Given the description of an element on the screen output the (x, y) to click on. 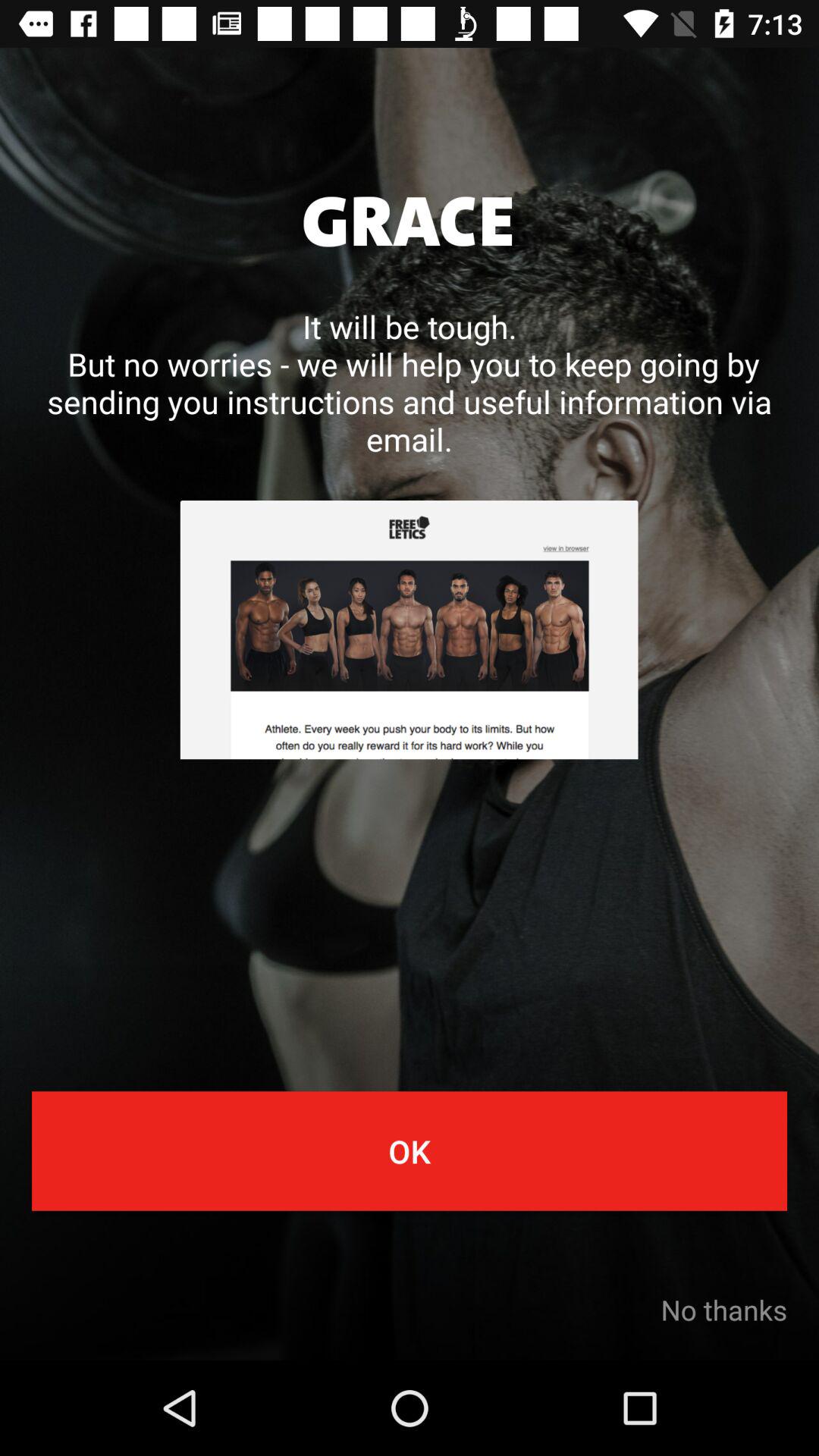
scroll to no thanks item (723, 1309)
